Given the description of an element on the screen output the (x, y) to click on. 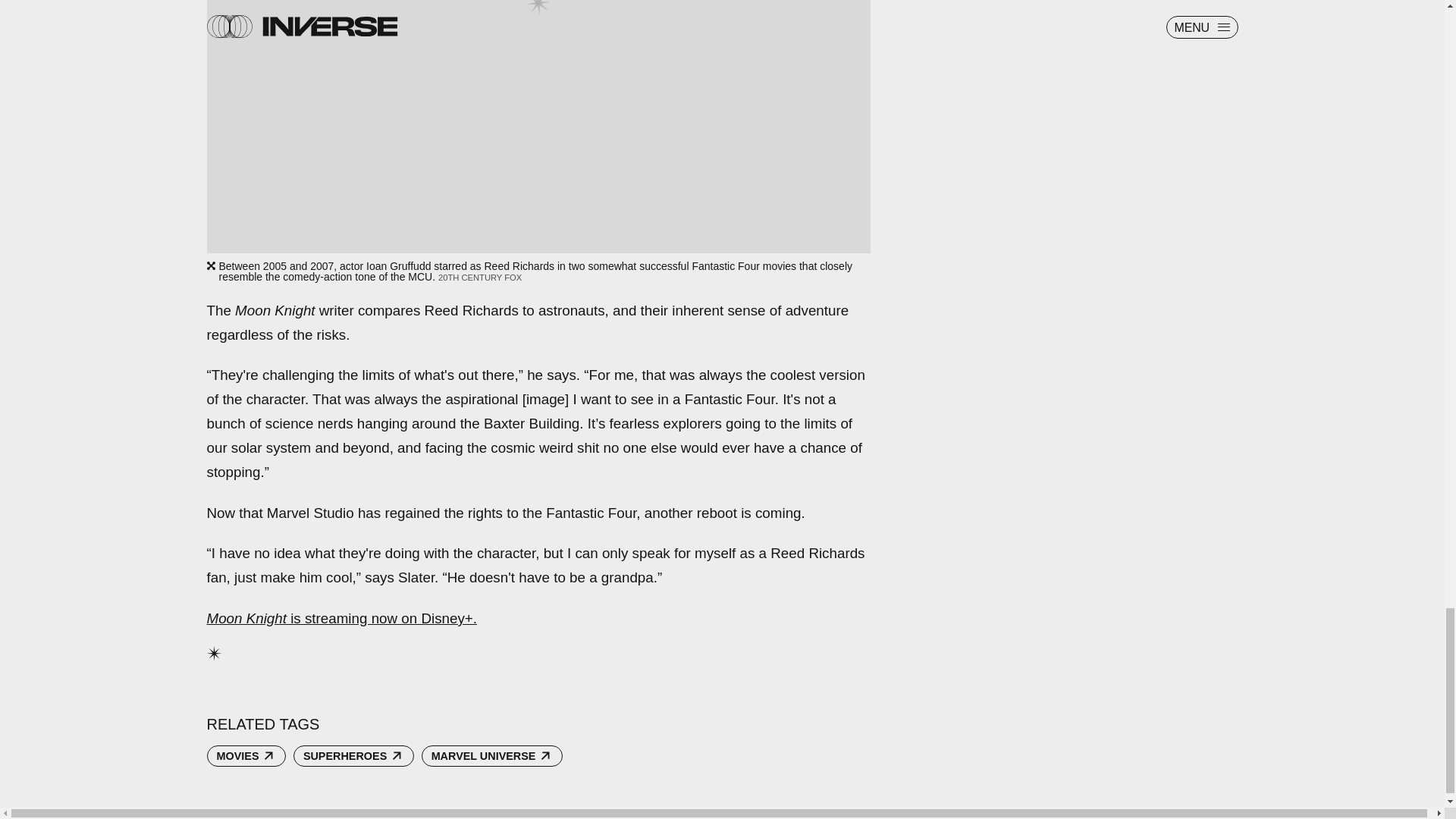
MOVIES (245, 755)
SUPERHEROES (353, 755)
MARVEL UNIVERSE (492, 755)
